Given the description of an element on the screen output the (x, y) to click on. 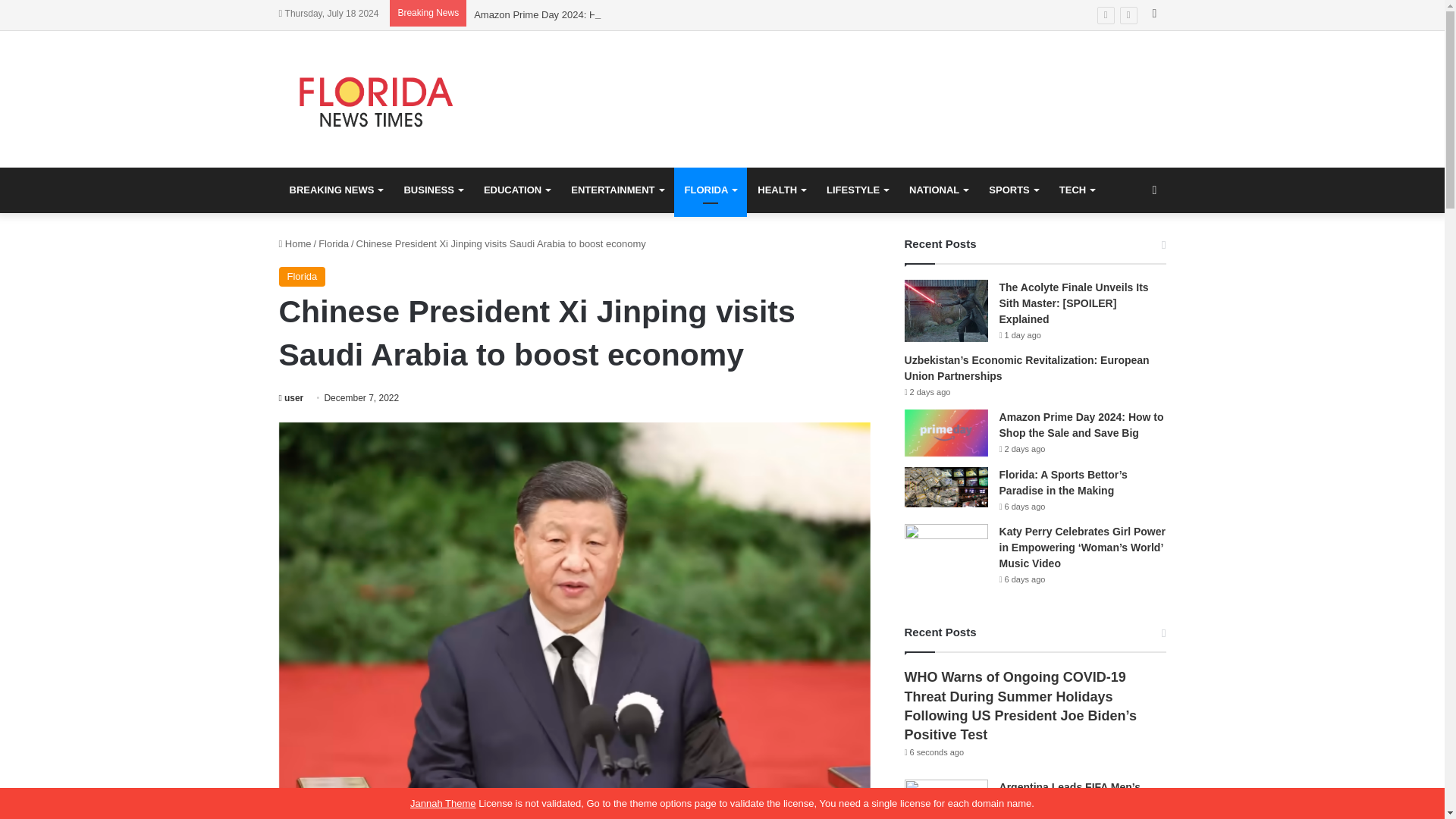
ENTERTAINMENT (616, 189)
TECH (1076, 189)
Floridanewstimes.com (377, 99)
BUSINESS (432, 189)
NATIONAL (938, 189)
Home (295, 243)
Florida (302, 276)
user (291, 398)
Jannah Theme (443, 803)
Florida (333, 243)
HEALTH (780, 189)
FLORIDA (709, 189)
user (291, 398)
LIFESTYLE (856, 189)
SPORTS (1013, 189)
